Given the description of an element on the screen output the (x, y) to click on. 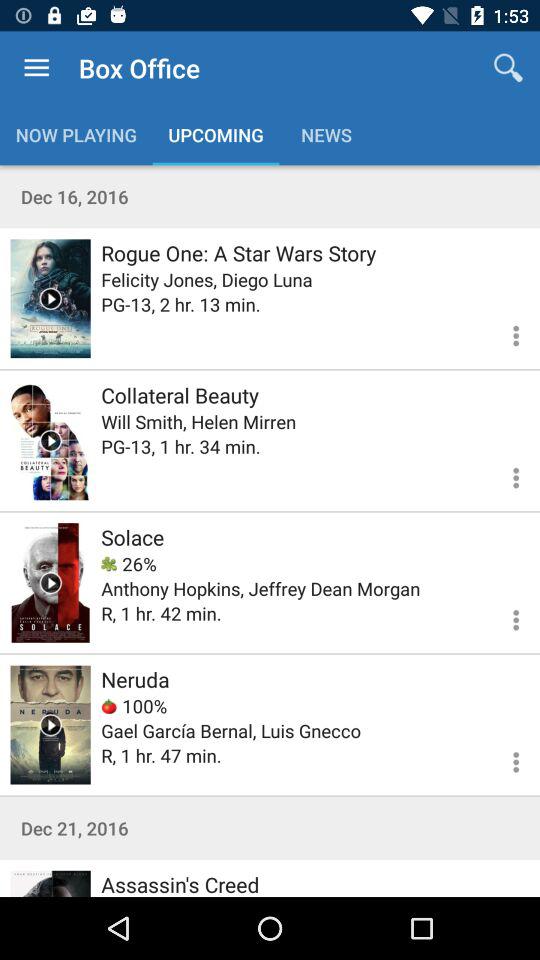
select the menu option for the first movie (503, 332)
